Given the description of an element on the screen output the (x, y) to click on. 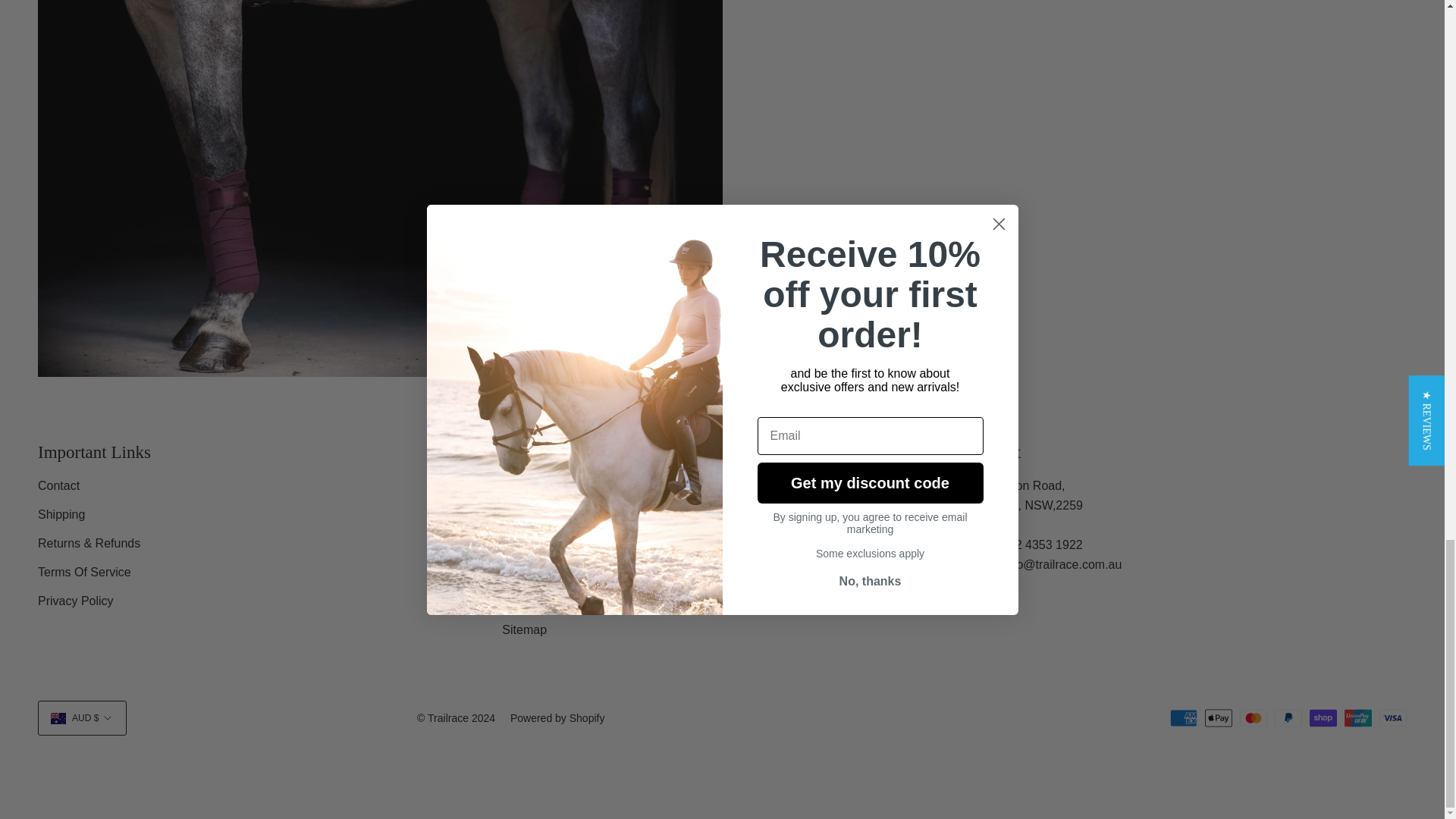
Trailrace on Facebook (877, 341)
Trailrace on Instagram (850, 341)
